Given the description of an element on the screen output the (x, y) to click on. 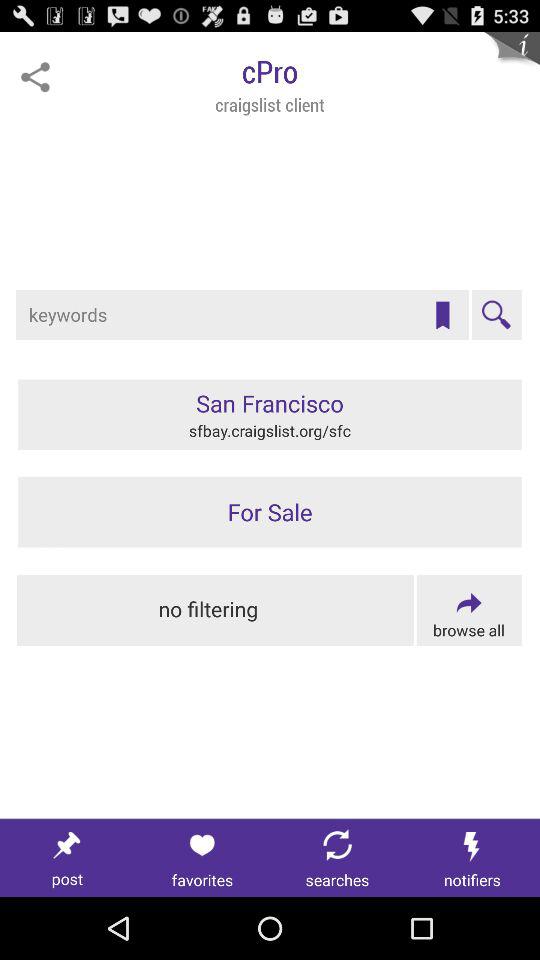
view more info (511, 59)
